Given the description of an element on the screen output the (x, y) to click on. 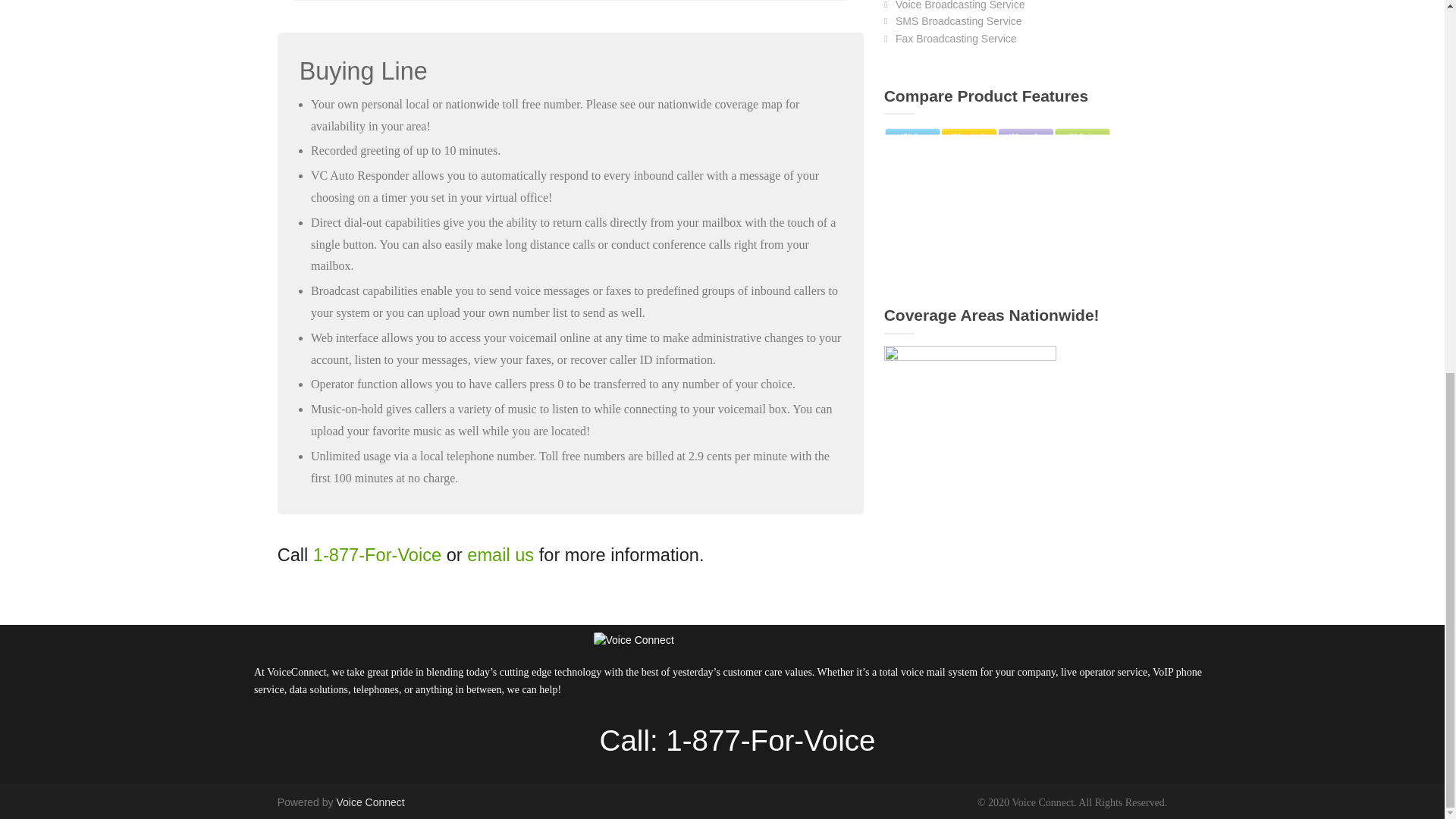
email us (500, 555)
1-877-For-Voice (377, 555)
